Given the description of an element on the screen output the (x, y) to click on. 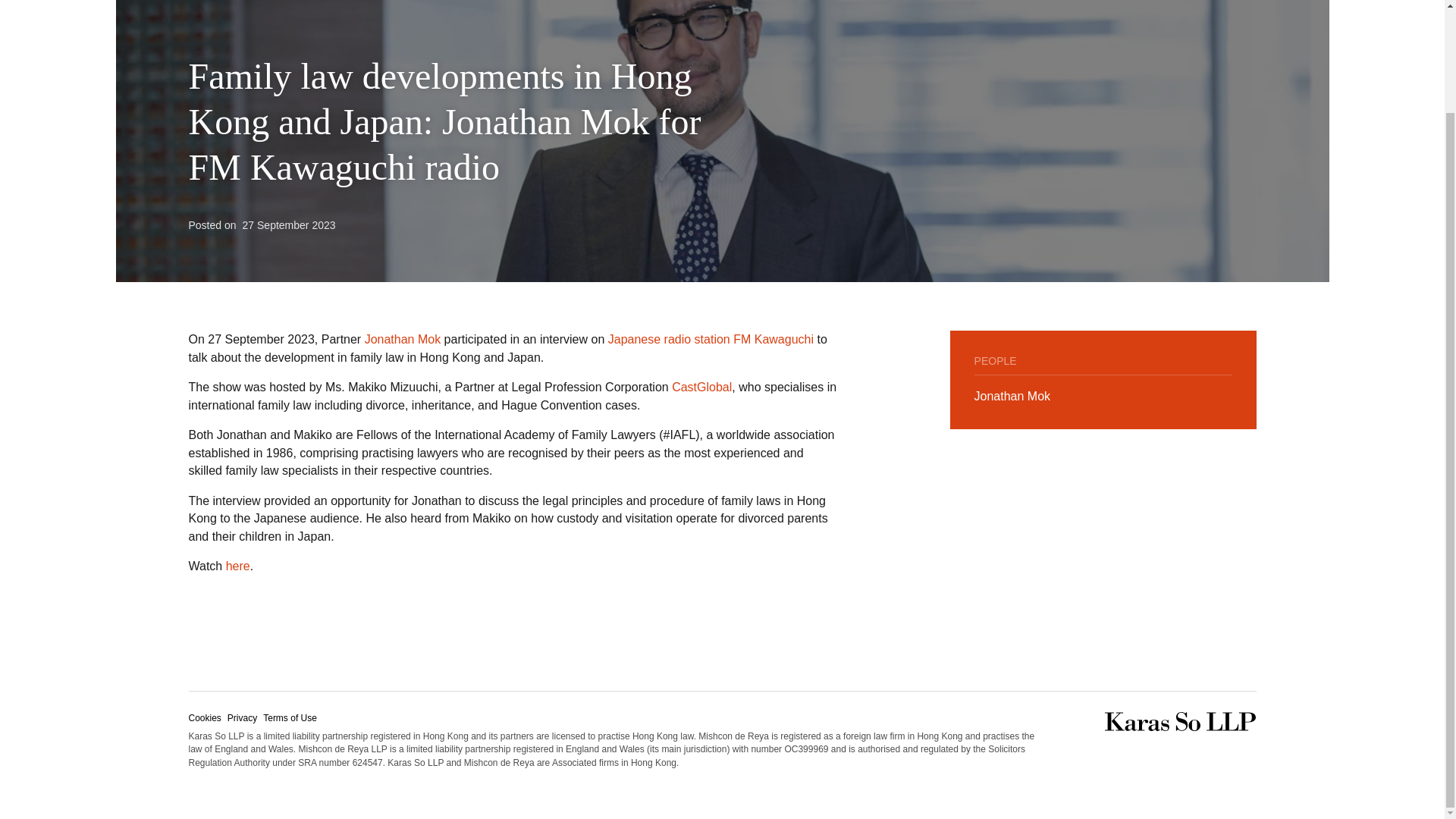
CastGlobal (701, 386)
Cookies (204, 717)
Jonathan Mok (403, 338)
Terms of Use (290, 717)
Japanese radio station FM Kawaguchi (710, 338)
here (237, 565)
Privacy (242, 717)
Jonathan Mok (1012, 395)
